Given the description of an element on the screen output the (x, y) to click on. 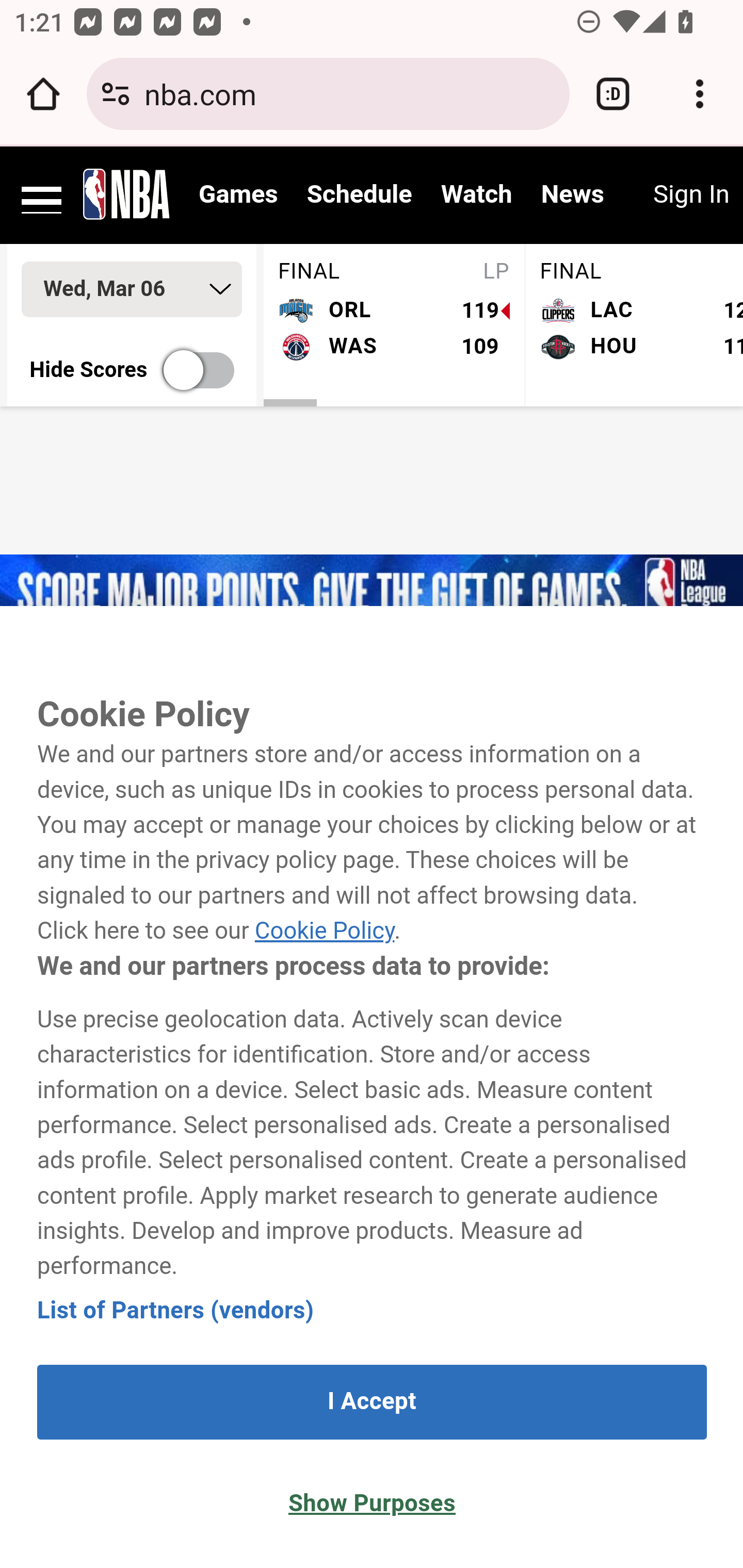
Open the home page (43, 93)
Connection is secure (115, 93)
Switch or close tabs (612, 93)
Customize and control Google Chrome (699, 93)
nba.com (349, 92)
Games (238, 195)
Schedule (358, 195)
Watch (476, 195)
News (571, 195)
Sign In (690, 195)
NBA Logo NBA NBA Logo NBA (127, 193)
Global Navigation Toggle (42, 193)
Scoreboard Date Picker (131, 289)
Tune In Banner (371, 591)
Event Icon (371, 893)
Cookie Policy (323, 931)
List of Partners (vendors) (175, 1310)
I Accept (372, 1402)
Show Purposes (372, 1504)
